Given the description of an element on the screen output the (x, y) to click on. 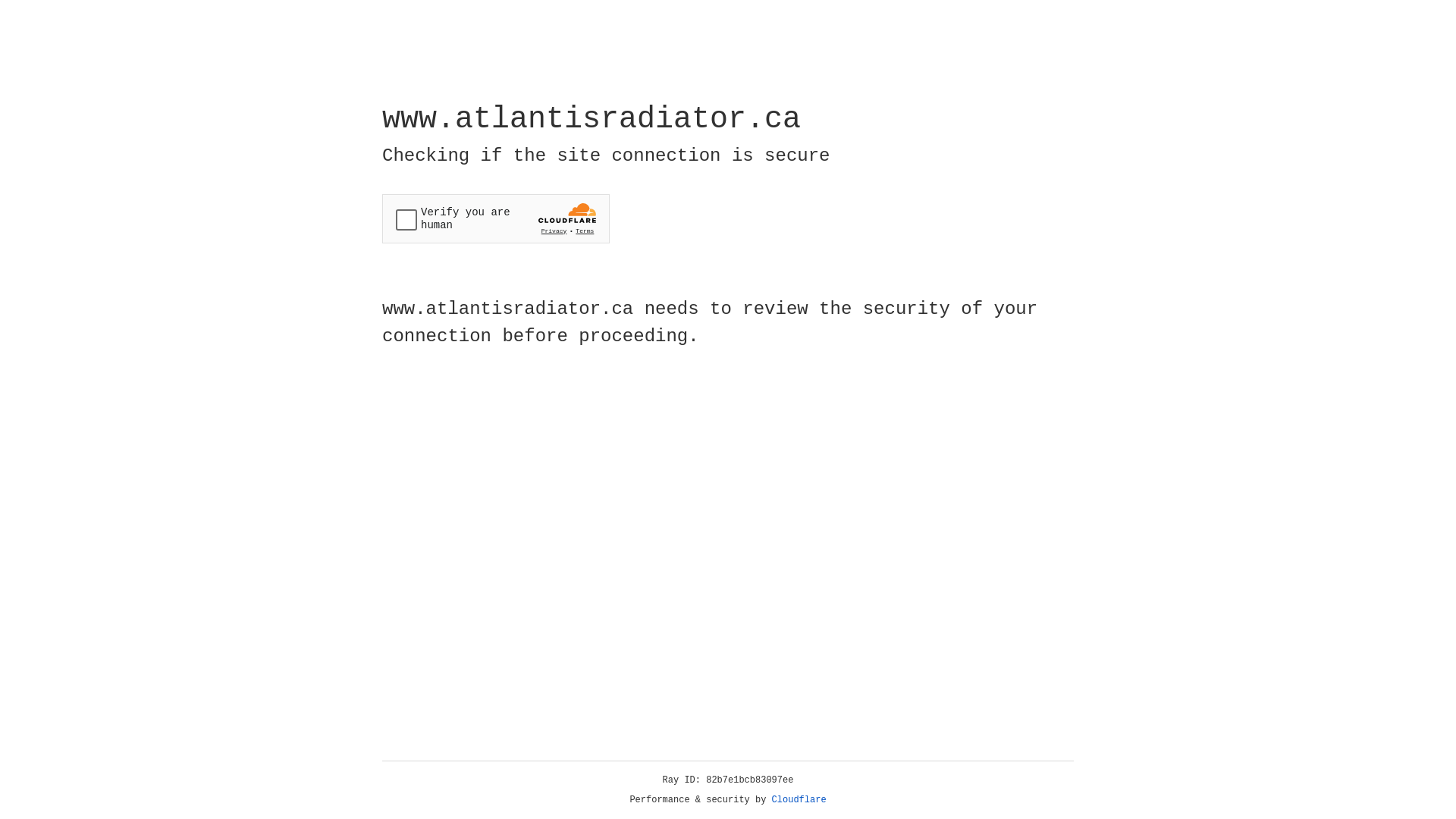
Cloudflare Element type: text (798, 799)
Widget containing a Cloudflare security challenge Element type: hover (495, 218)
